Given the description of an element on the screen output the (x, y) to click on. 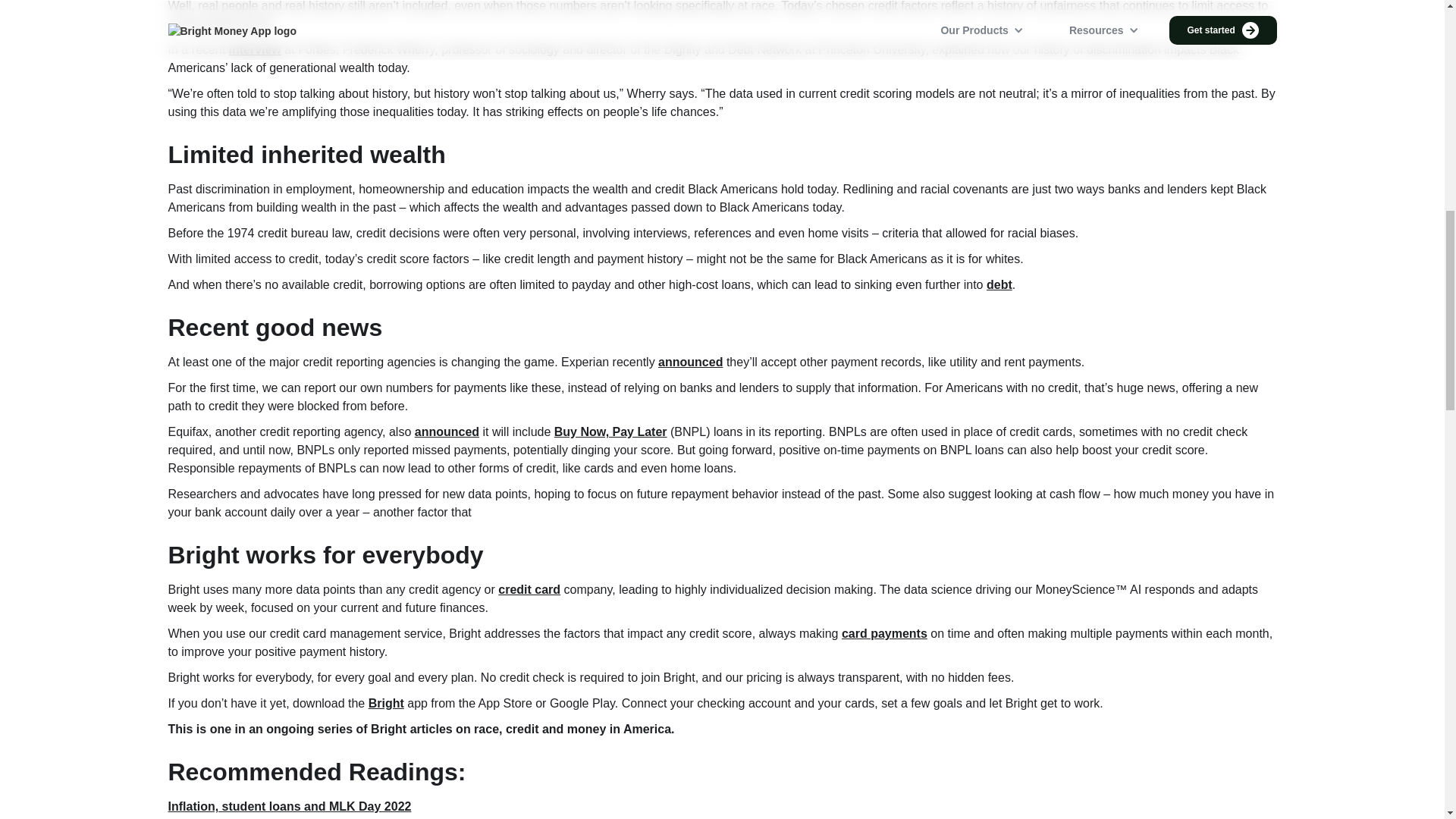
debt (999, 284)
interview (254, 49)
credit card (528, 589)
Bright (386, 703)
announced (690, 361)
announced (446, 431)
card payments (884, 633)
Inflation, student loans and MLK Day 2022 (290, 806)
Buy Now, Pay Later (610, 431)
